Given the description of an element on the screen output the (x, y) to click on. 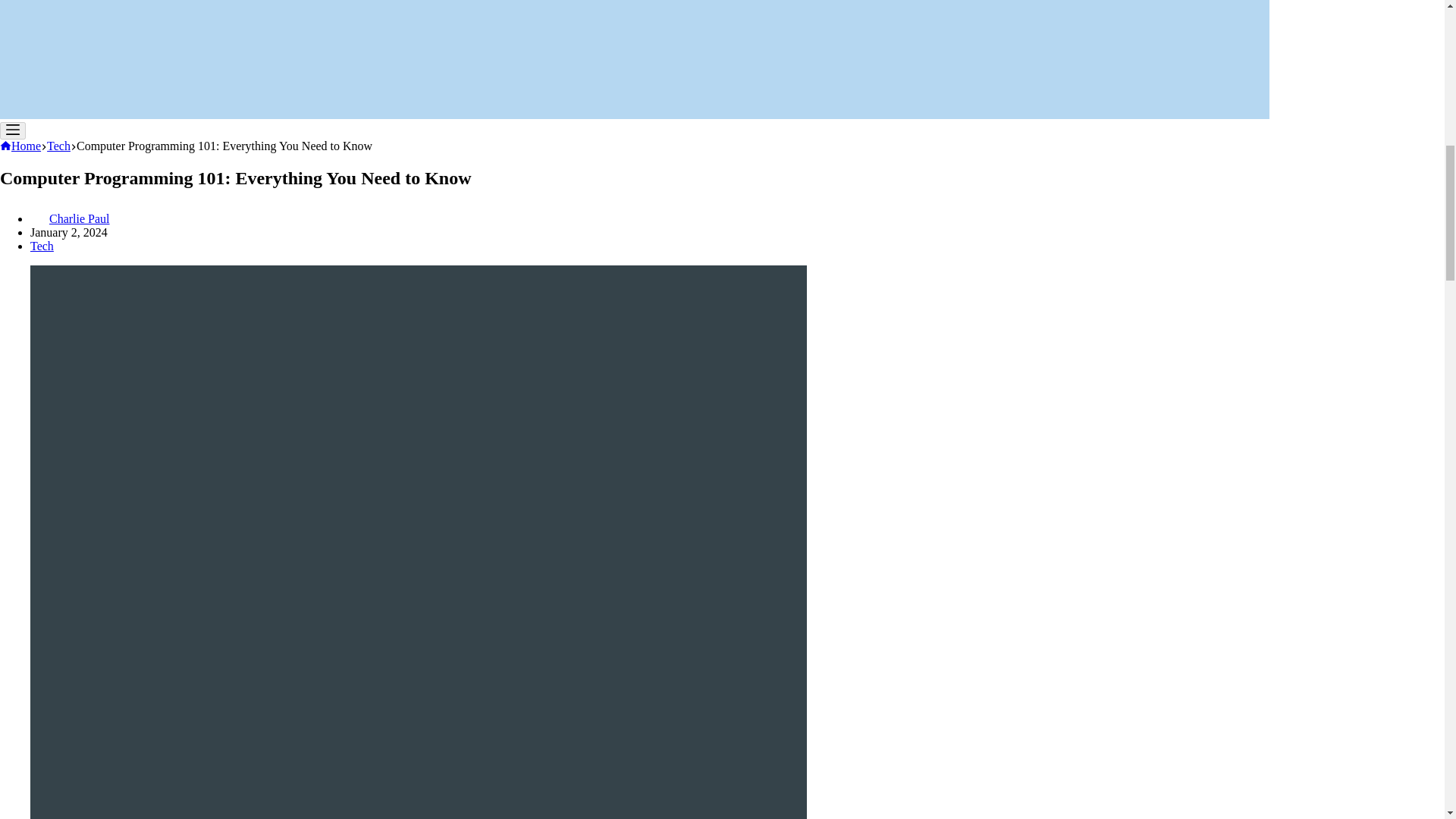
Home (20, 145)
Tech (41, 245)
Tech (57, 145)
Posts by Charlie Paul (79, 218)
Charlie Paul (79, 218)
